Given the description of an element on the screen output the (x, y) to click on. 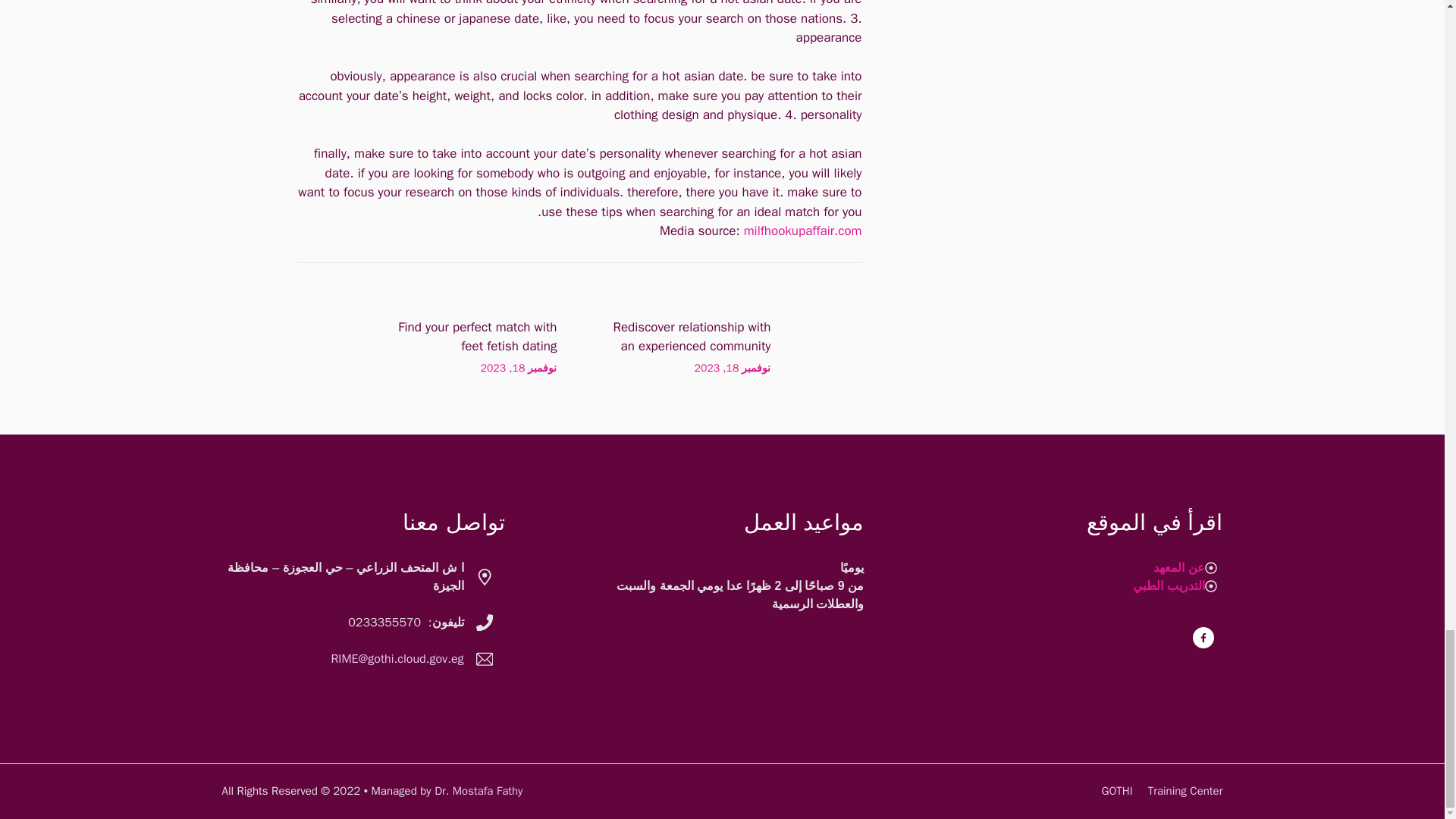
Dr. Mostafa Fathy (477, 790)
Rediscover relationship with an experienced community (691, 336)
Training Center (1185, 790)
Find your perfect match with feet fetish dating (476, 336)
GOTHI (1117, 790)
milfhookupaffair.com (802, 230)
